Given the description of an element on the screen output the (x, y) to click on. 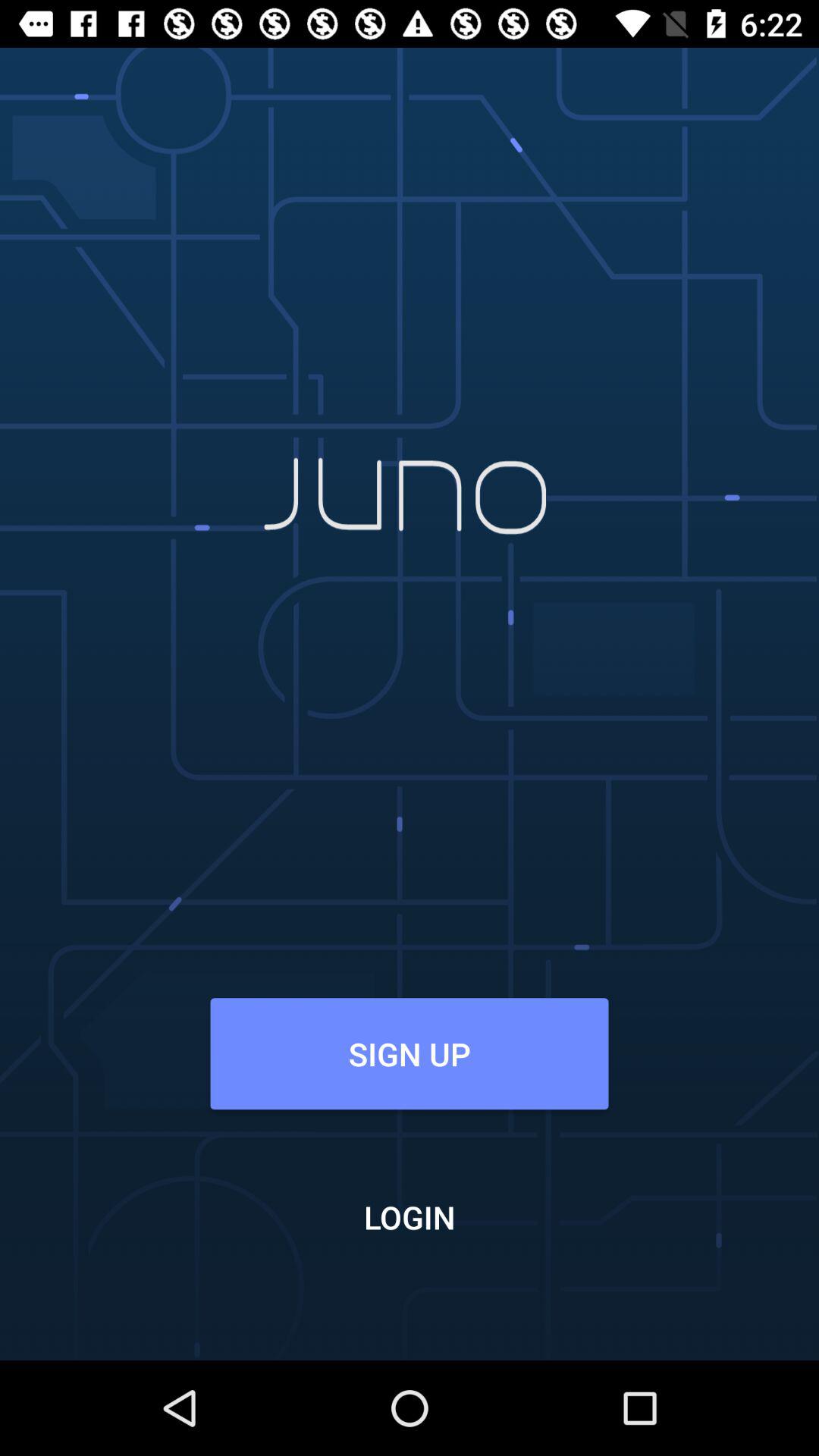
scroll until the login (409, 1216)
